Given the description of an element on the screen output the (x, y) to click on. 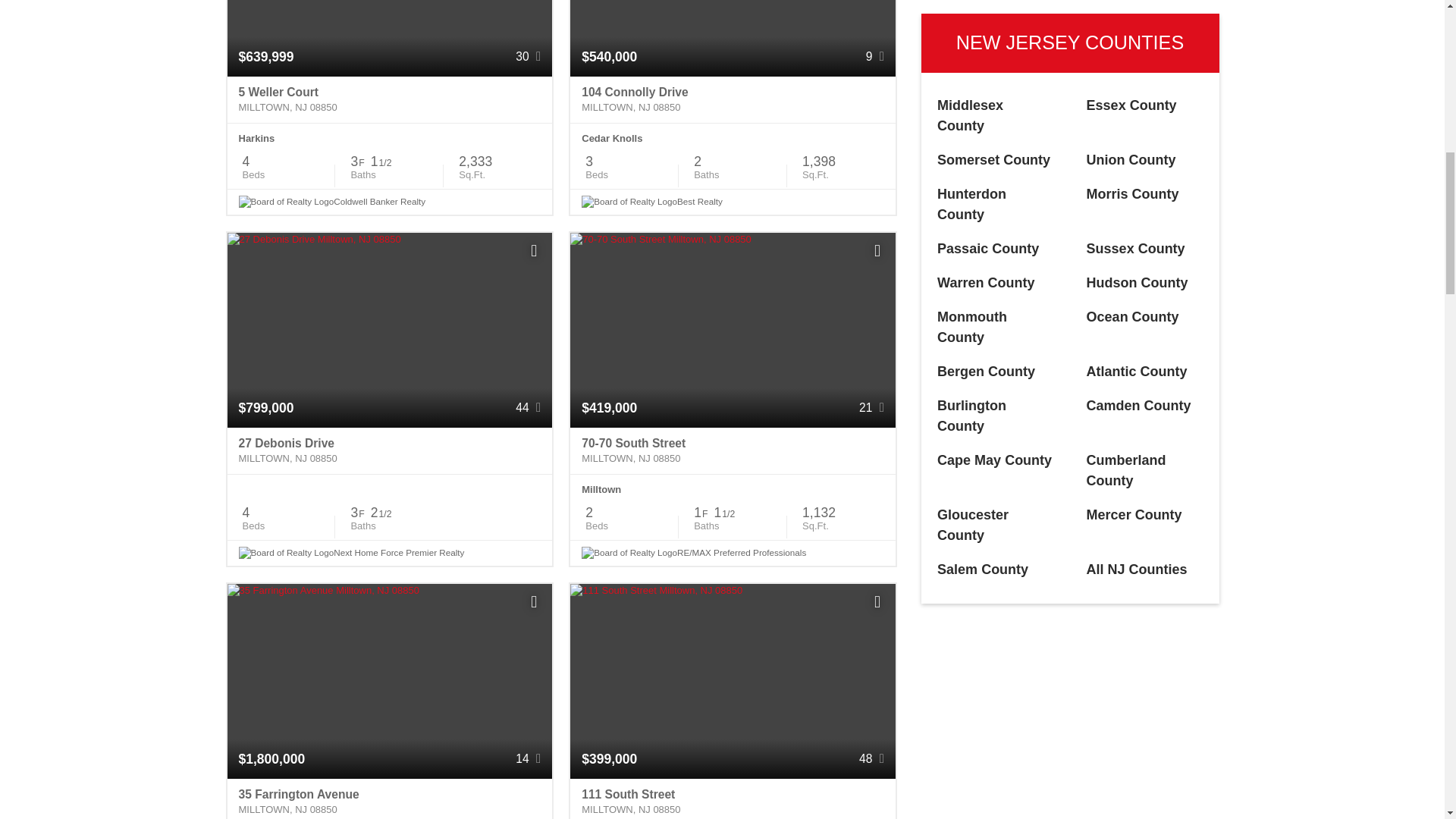
104 Connolly Drive Milltown,  NJ 08850 (732, 99)
70-70 South Street Milltown,  NJ 08850 (732, 451)
27 Debonis Drive Milltown,  NJ 08850 (390, 451)
5 Weller Court Milltown,  NJ 08850 (390, 99)
35 Farrington Avenue Milltown,  NJ 08850 (390, 798)
111 South Street Milltown,  NJ 08850 (732, 798)
